Given the description of an element on the screen output the (x, y) to click on. 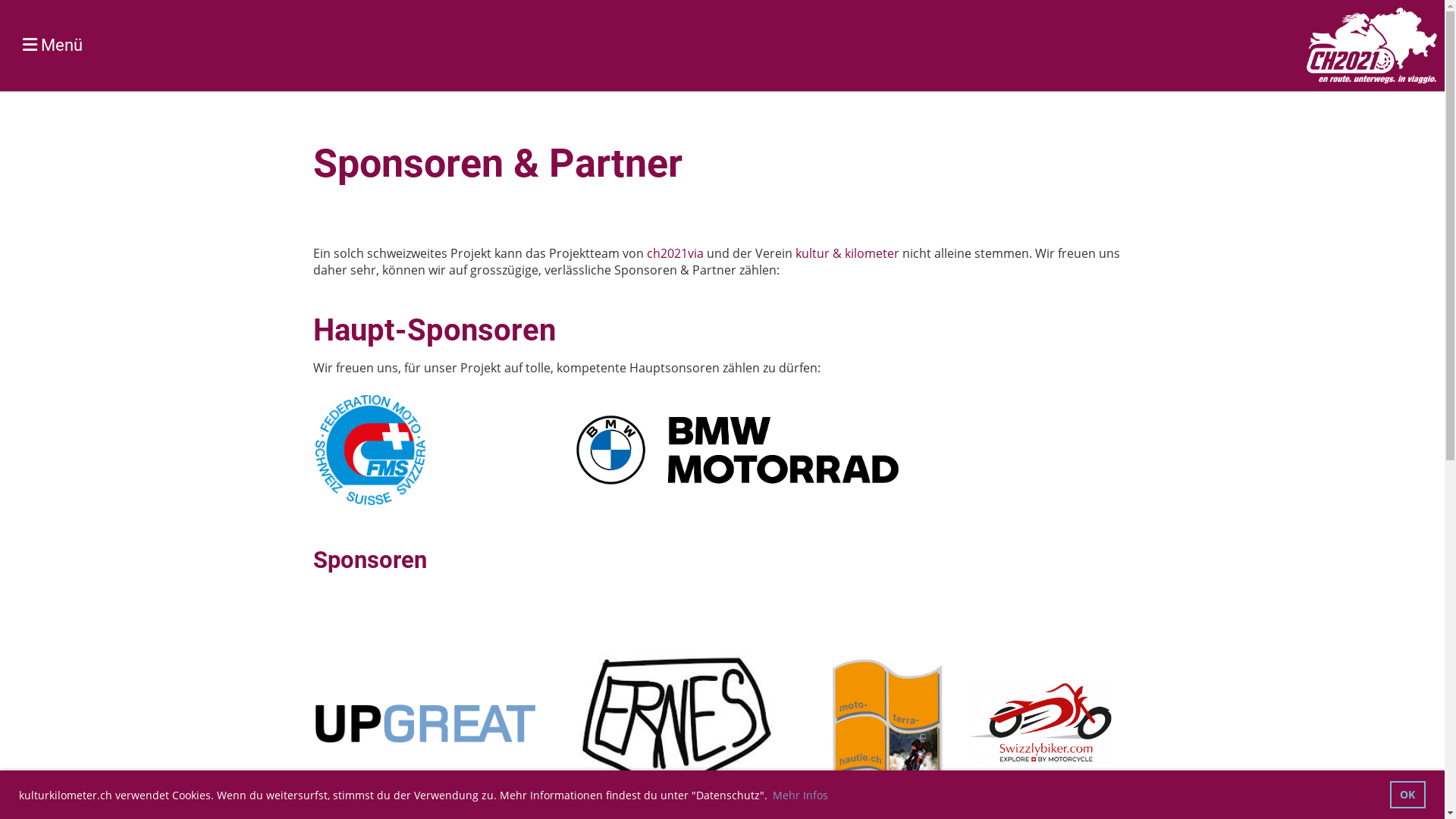
Mehr Infos Element type: text (800, 794)
OK Element type: text (1407, 794)
Moto-Terra-Hautle Element type: hover (887, 786)
kultur & kilometer Element type: text (846, 252)
UPGREAT Element type: hover (425, 737)
Swizzlybiker - Brand of Global Riders AG Element type: hover (1040, 758)
